Given the description of an element on the screen output the (x, y) to click on. 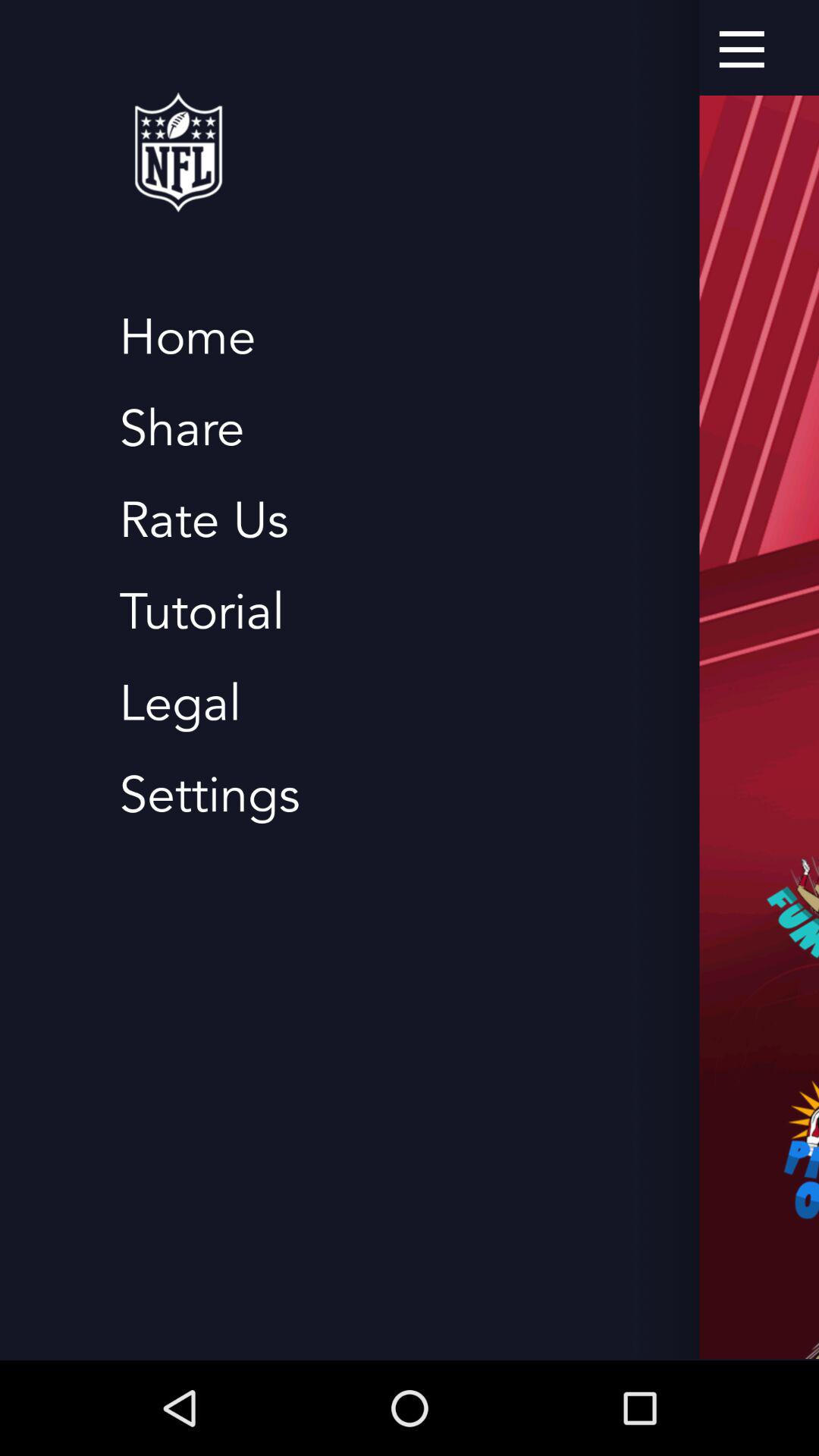
click the item below tutorial (180, 703)
